Given the description of an element on the screen output the (x, y) to click on. 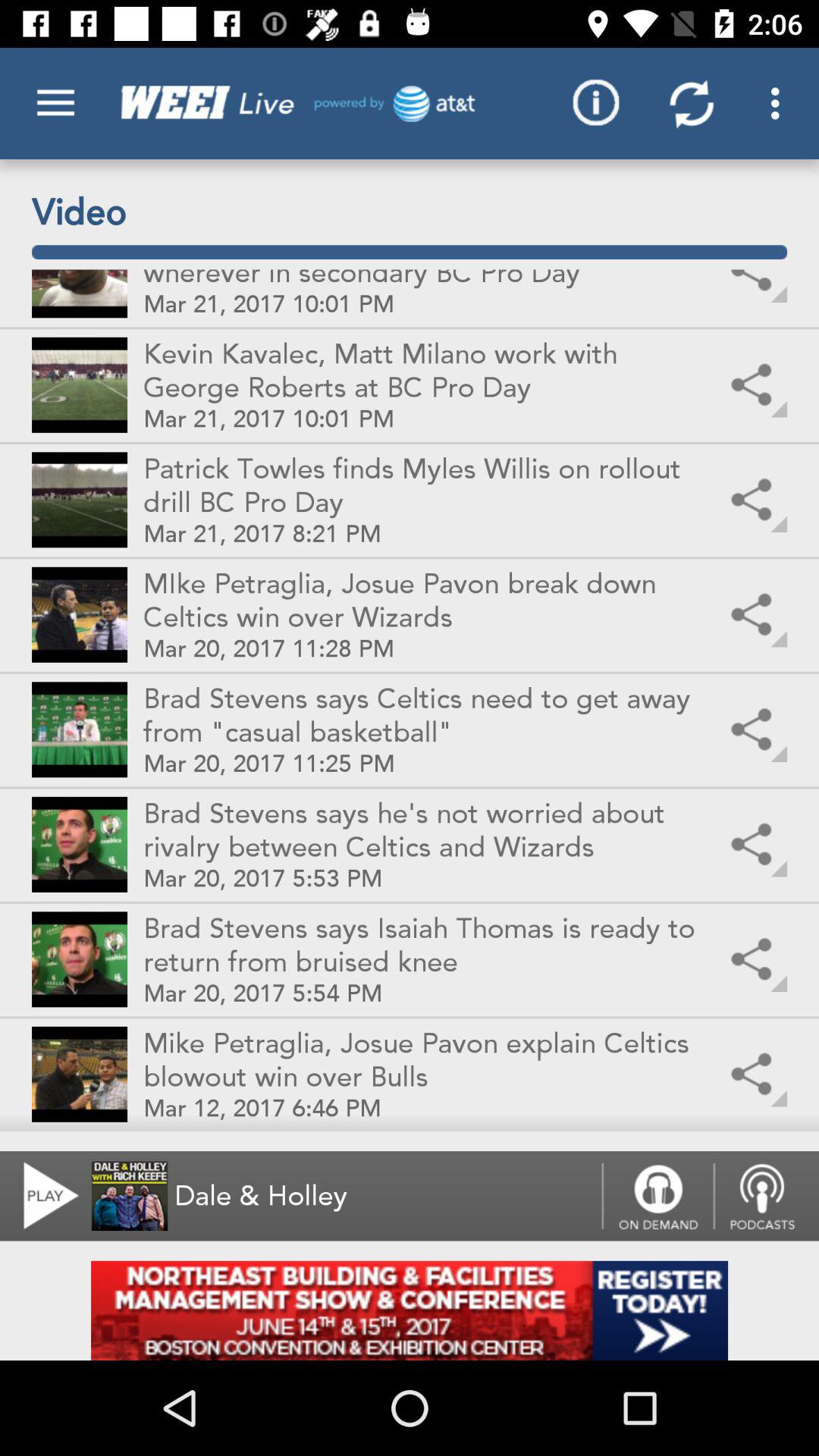
click the third image (79, 499)
click on podcasts option (766, 1196)
select the 6th share icon (755, 844)
click on the second option (79, 384)
select the fifth share icon (755, 729)
select the second picture from the bottom (79, 959)
click on the image which is just above the play icon (79, 1074)
click on the top right corner option (779, 103)
